Given the description of an element on the screen output the (x, y) to click on. 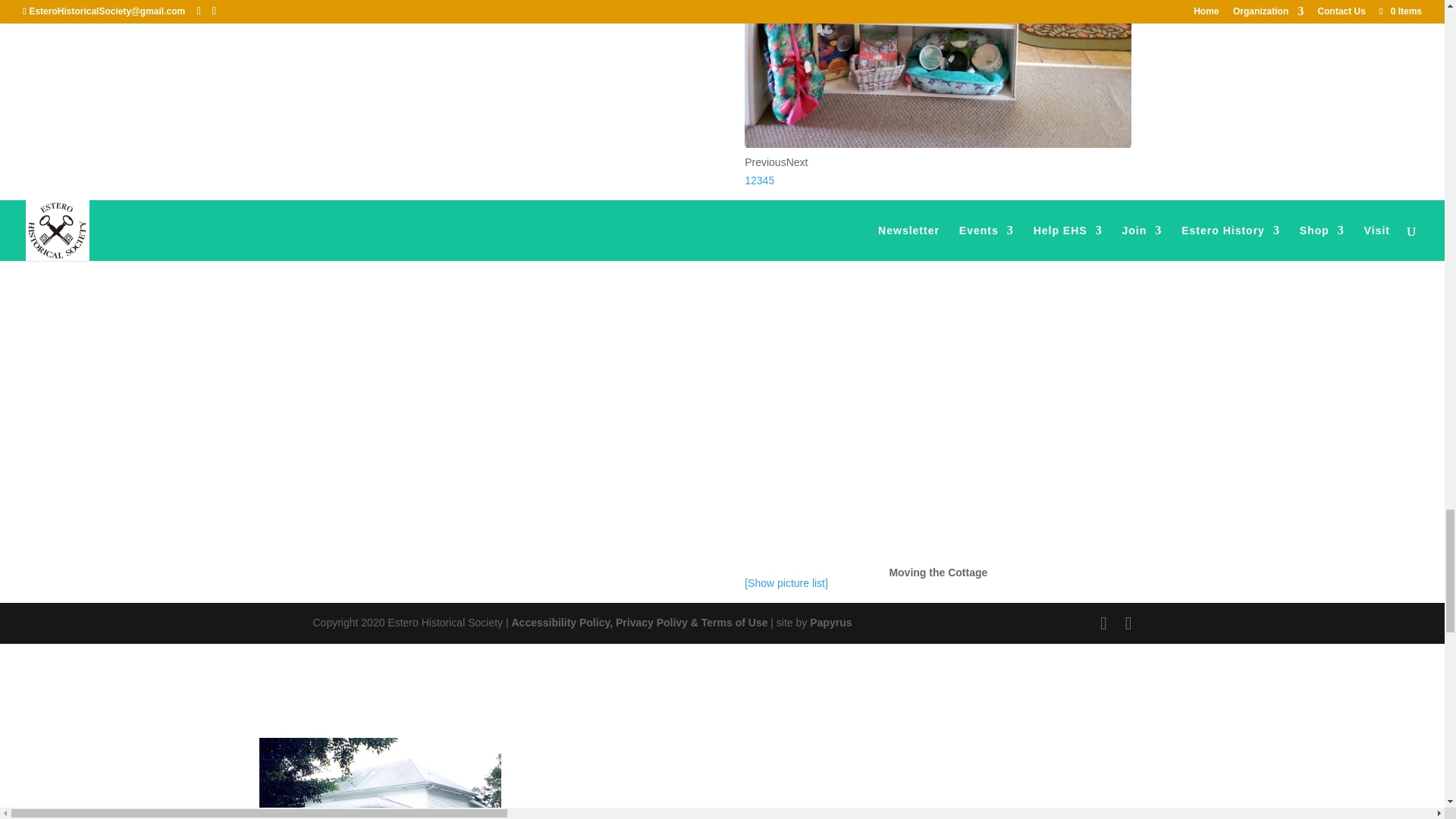
Hall-Hanson-Collier House (380, 778)
Cottage Gift Shop 2 (937, 143)
Hall-Hanson-Collier House (379, 778)
